Given the description of an element on the screen output the (x, y) to click on. 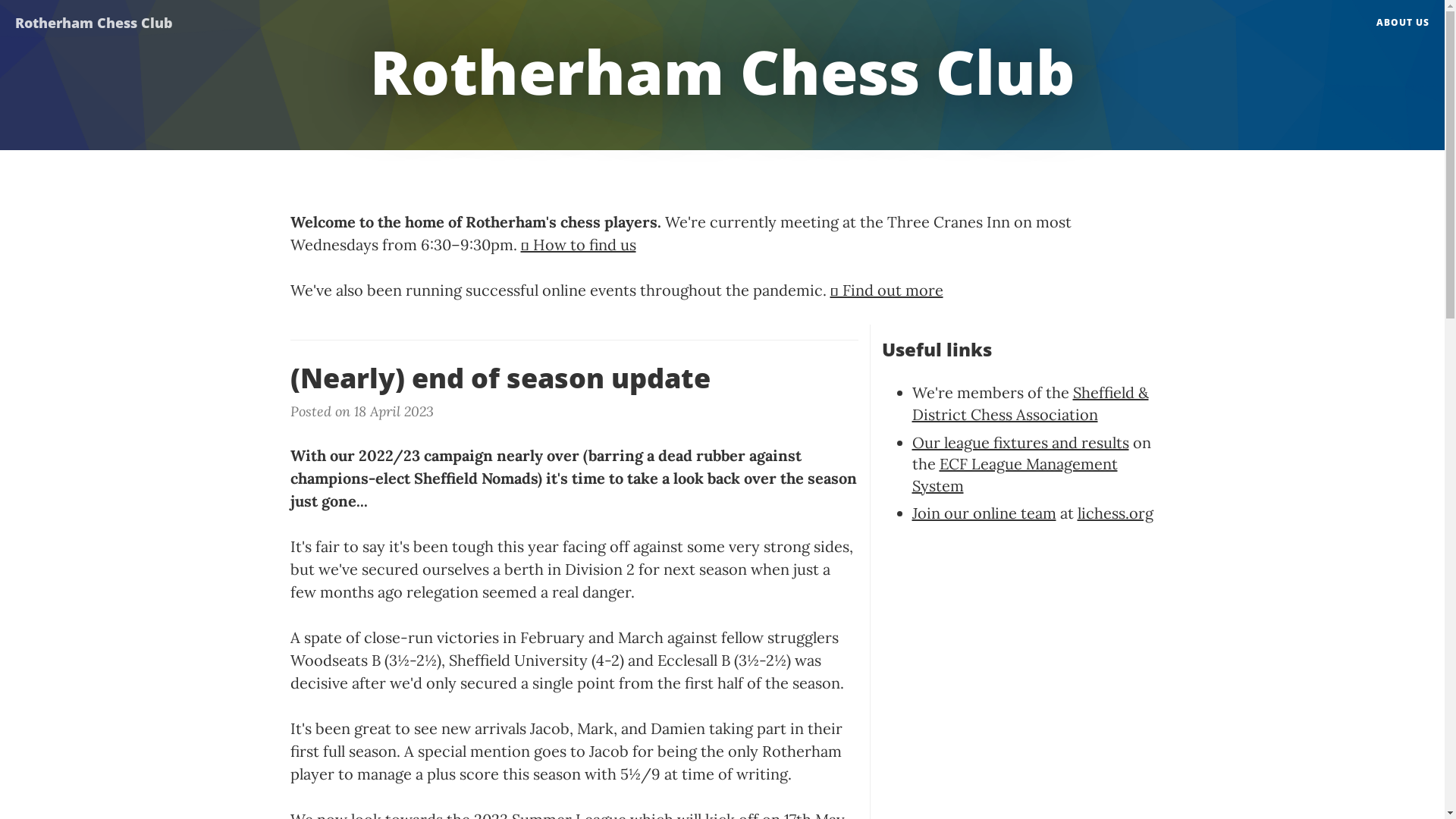
(Nearly) end of season update Element type: text (573, 378)
lichess.org Element type: text (1114, 512)
Rotherham Chess Club Element type: text (94, 18)
ABOUT US Element type: text (1402, 22)
Sheffield & District Chess Association Element type: text (1029, 402)
Join our online team Element type: text (983, 512)
ECF League Management System Element type: text (1014, 474)
Our league fixtures and results Element type: text (1019, 442)
